Given the description of an element on the screen output the (x, y) to click on. 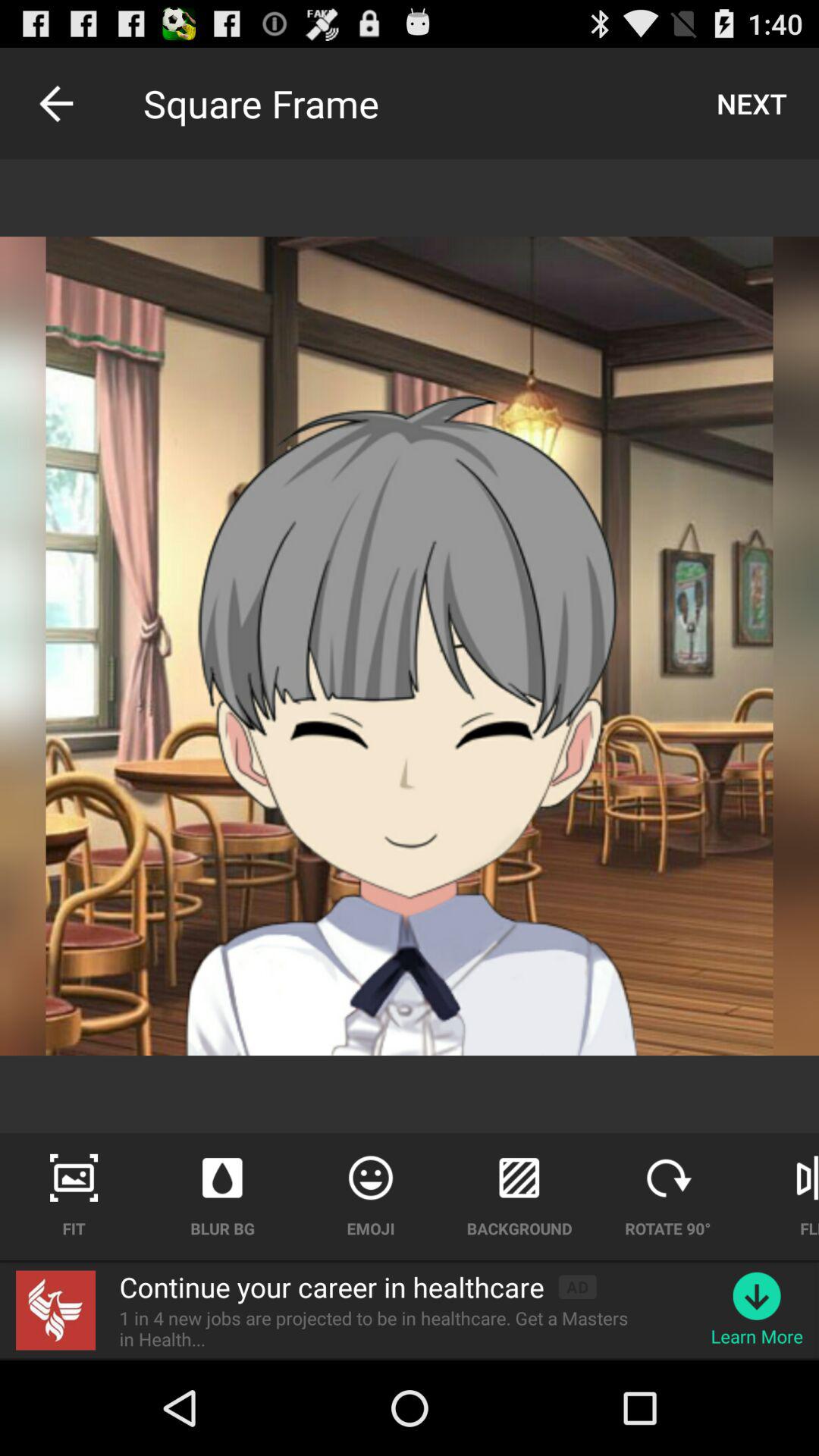
jump until 1 in 4 icon (383, 1328)
